Given the description of an element on the screen output the (x, y) to click on. 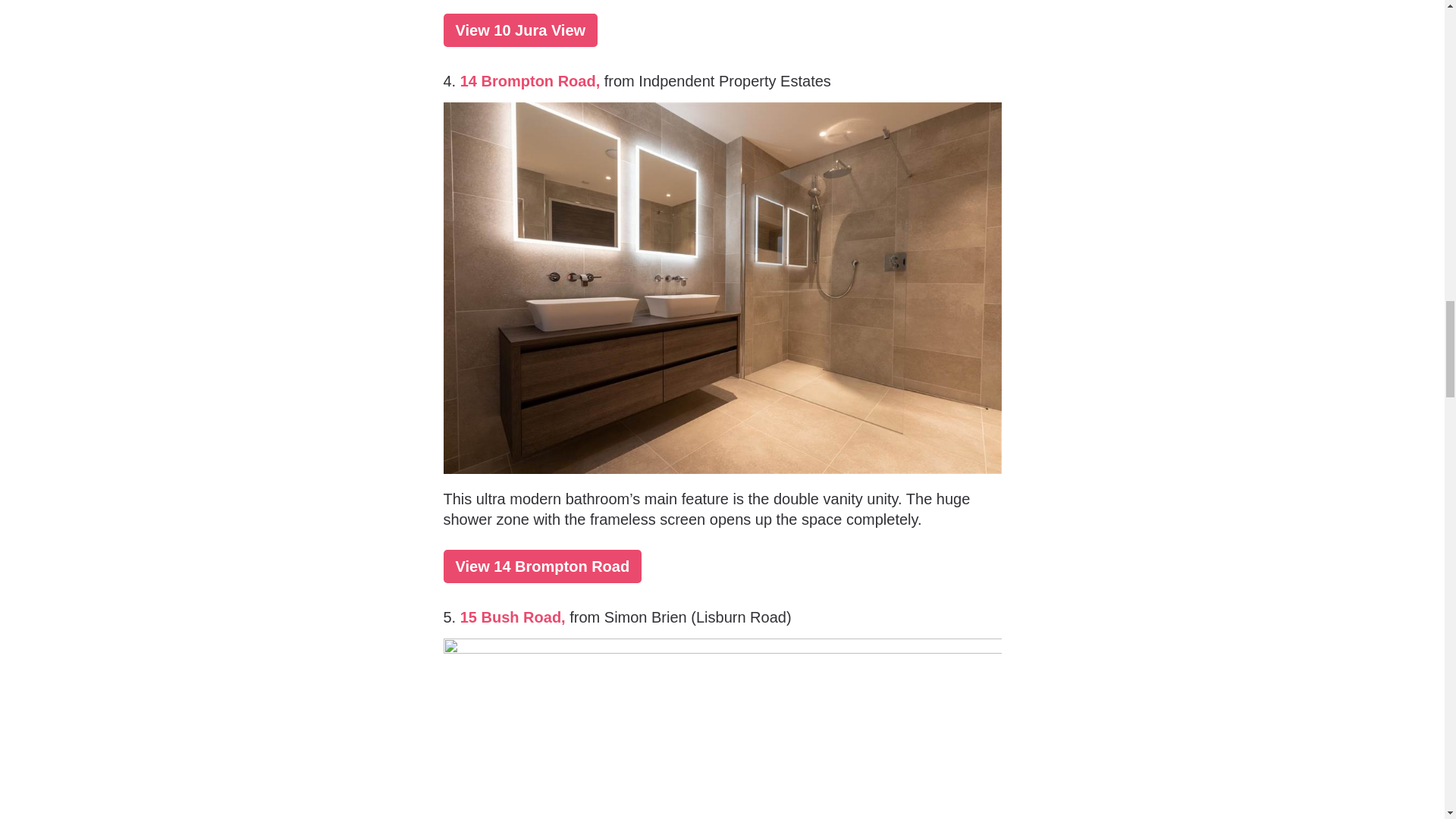
View 10 Jura View (519, 29)
15 Bush Road, (513, 617)
View 14 Brompton Road (542, 566)
14 Brompton Road, (532, 80)
